Given the description of an element on the screen output the (x, y) to click on. 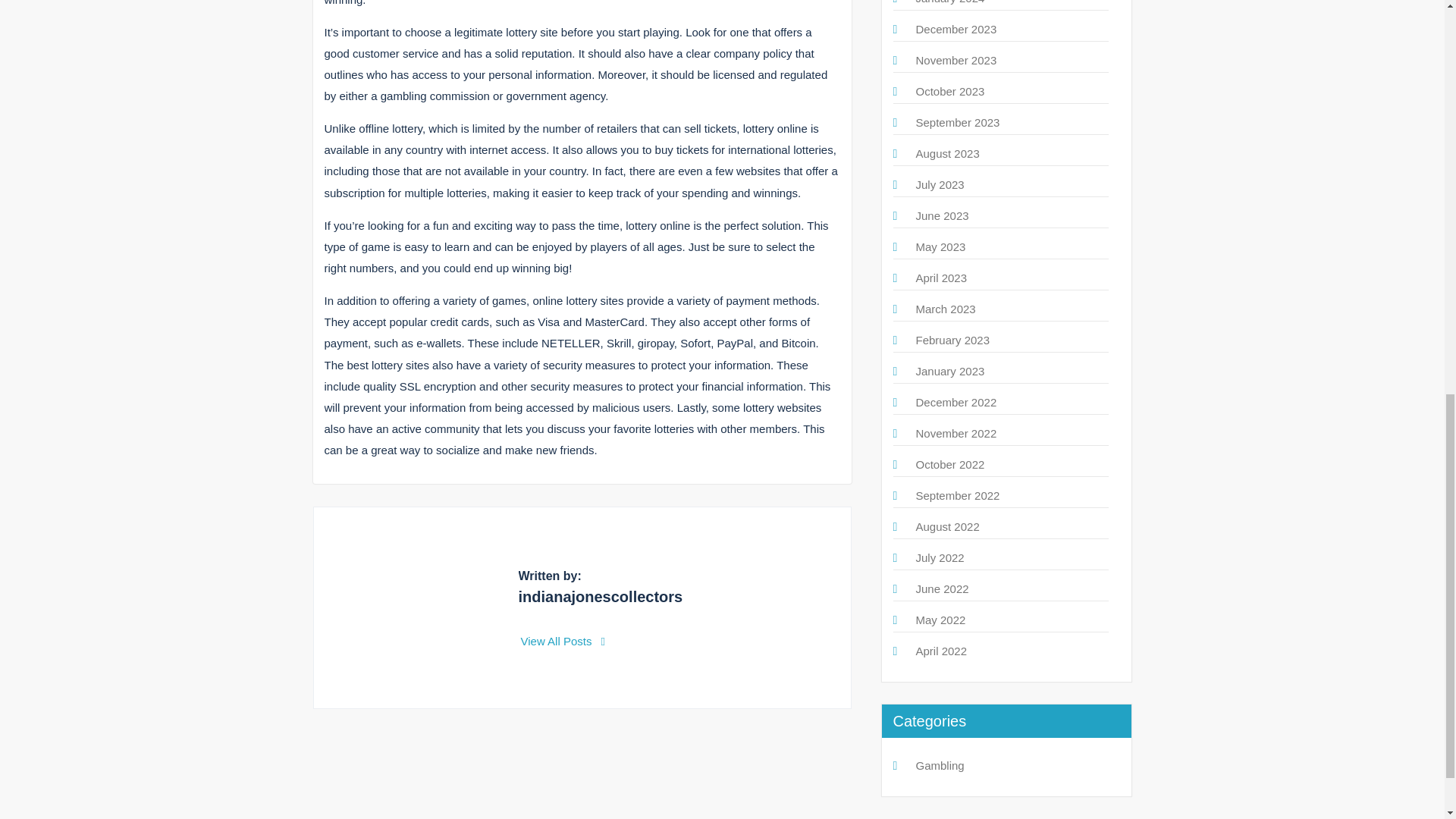
January 2024 (950, 2)
May 2023 (940, 246)
March 2023 (945, 308)
May 2022 (940, 619)
August 2023 (947, 153)
July 2023 (939, 184)
November 2023 (956, 60)
December 2022 (956, 401)
October 2022 (950, 463)
September 2022 (957, 495)
April 2023 (941, 277)
October 2023 (950, 91)
December 2023 (956, 29)
Gambling (939, 765)
August 2022 (947, 526)
